Given the description of an element on the screen output the (x, y) to click on. 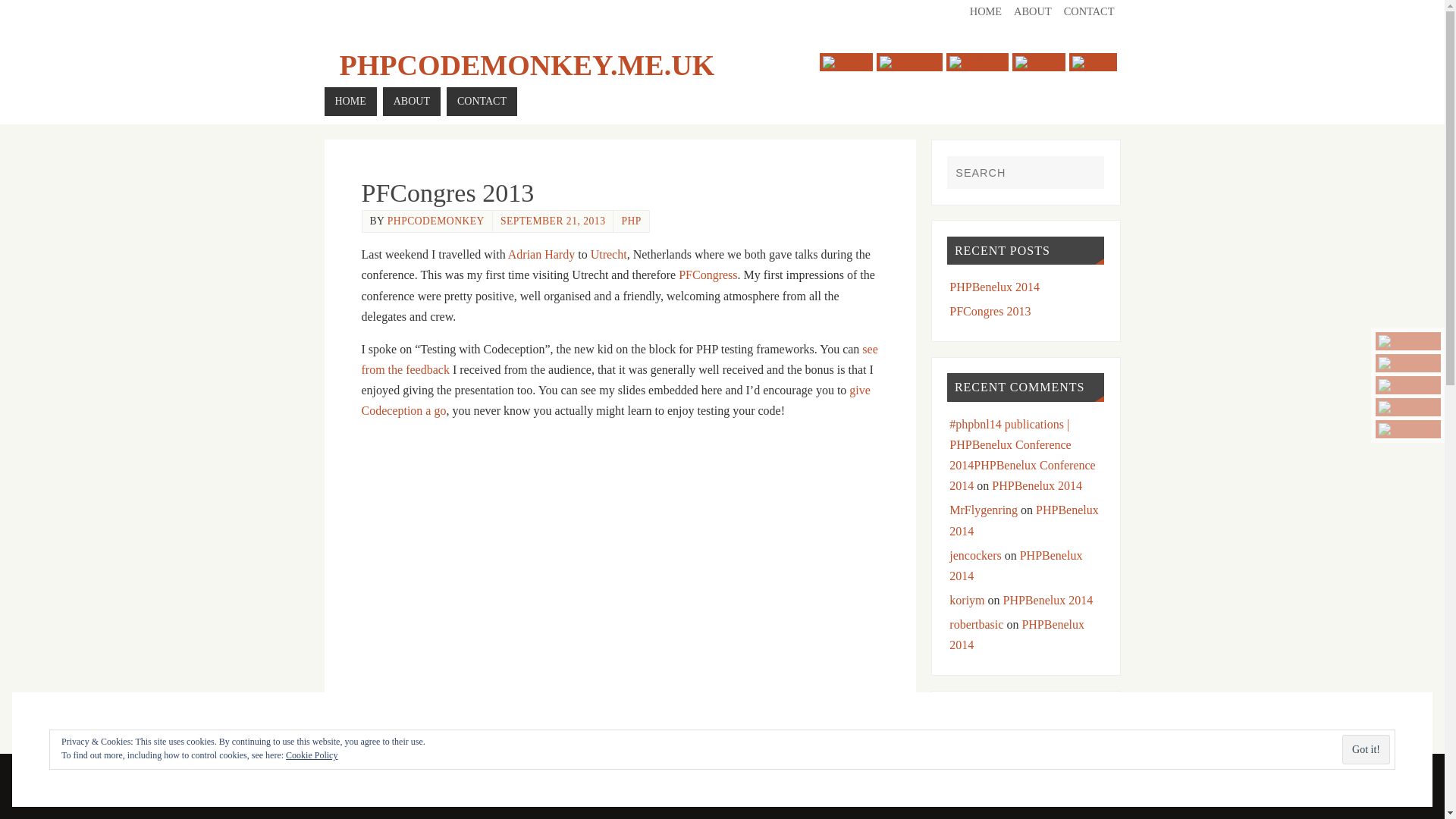
Adrian Hardy (541, 254)
CONTACT (1088, 11)
PFCongress (707, 274)
Flickr (1408, 429)
see from the feedback (619, 359)
Twitter (1408, 341)
PHP (630, 220)
HOME (350, 101)
CONTACT (481, 101)
ABOUT (411, 101)
PHPCODEMONKEY.ME.UK (526, 64)
Twitter (845, 62)
give Codeception a go (615, 400)
LinkedIn (977, 62)
ABOUT (1032, 11)
